Given the description of an element on the screen output the (x, y) to click on. 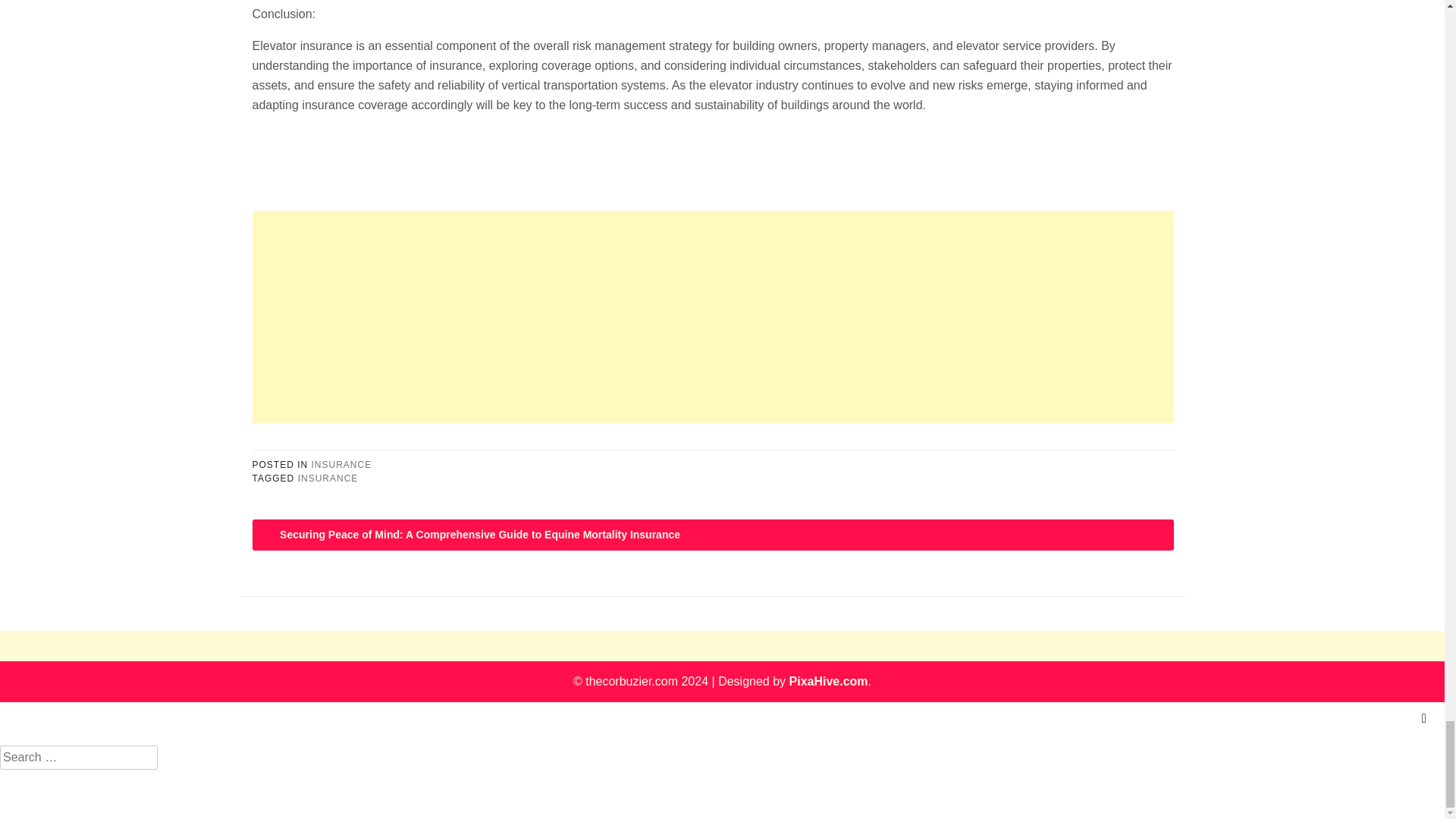
INSURANCE (341, 464)
INSURANCE (328, 478)
